Given the description of an element on the screen output the (x, y) to click on. 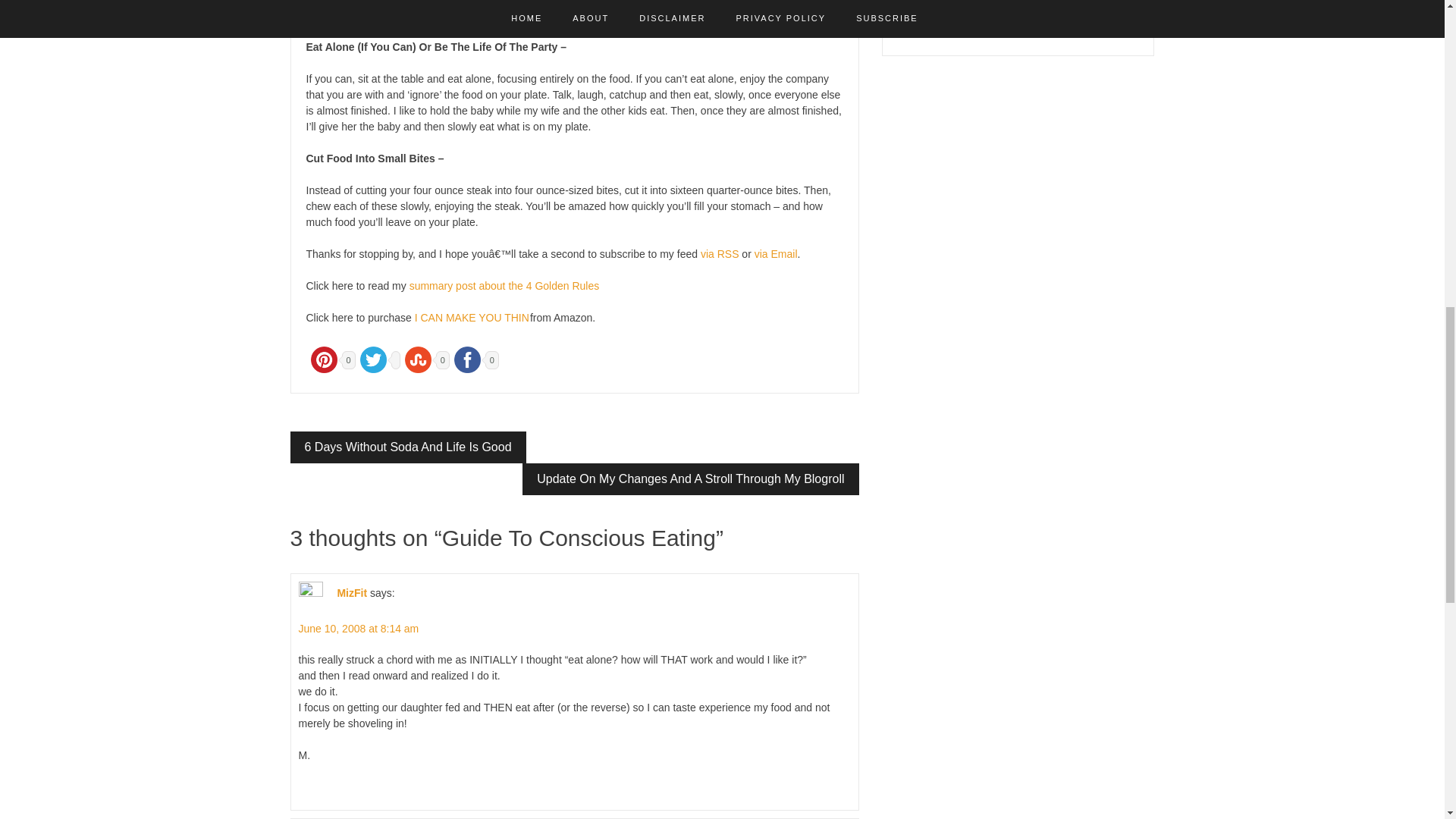
facebook (466, 359)
twitter (373, 359)
0 (474, 357)
0 (330, 357)
pinterest (323, 359)
MizFit (351, 592)
stumbleupon (417, 359)
via Email (775, 254)
Update On My Changes And A Stroll Through My Blogroll (690, 479)
6 Days Without Soda And Life Is Good (407, 447)
0 (424, 357)
Advertisement (1018, 16)
summary post about the 4 Golden Rules (504, 285)
June 10, 2008 at 8:14 am (358, 628)
I CAN MAKE YOU THIN (471, 317)
